Given the description of an element on the screen output the (x, y) to click on. 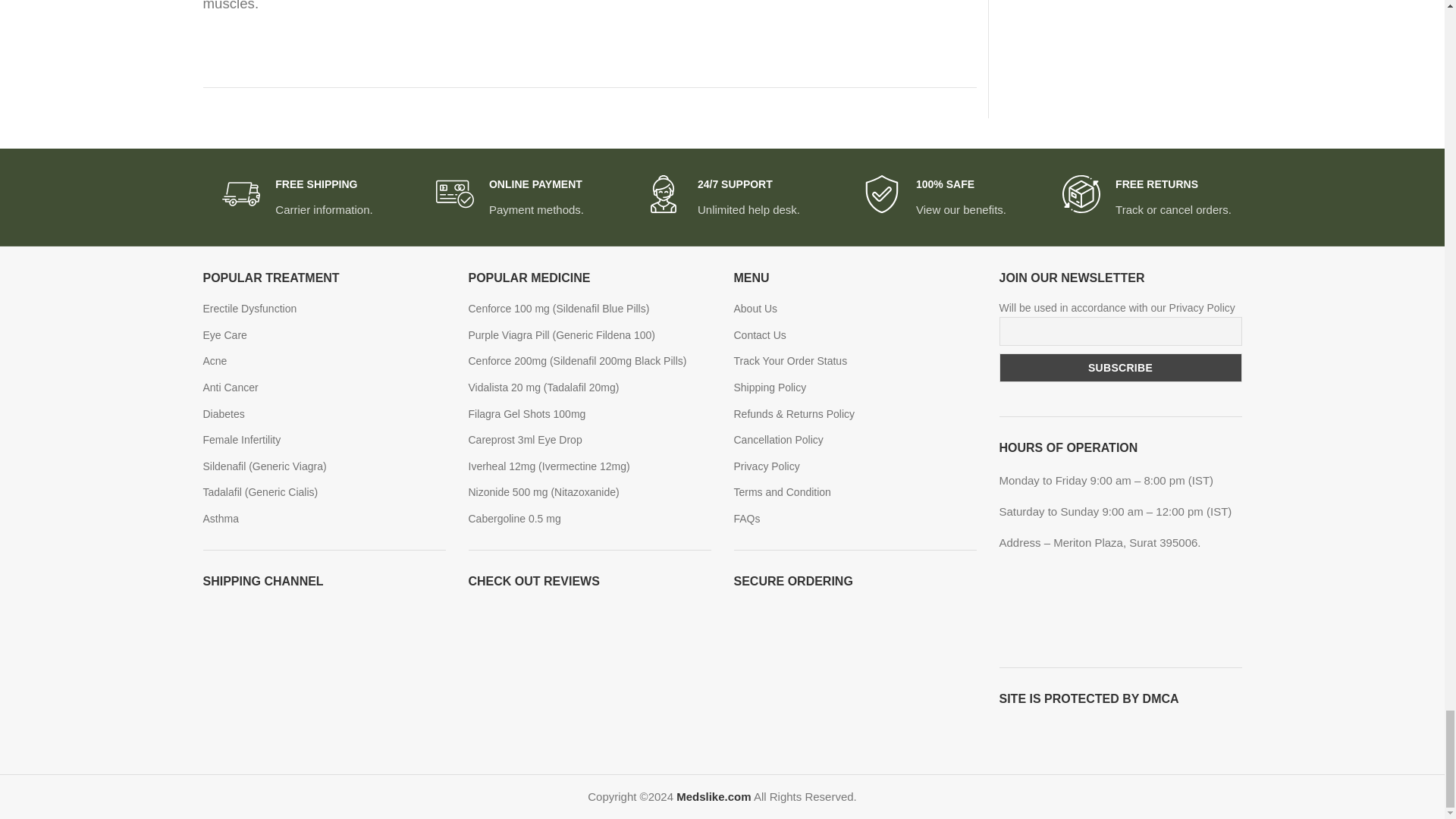
Subscribe (1119, 367)
